Given the description of an element on the screen output the (x, y) to click on. 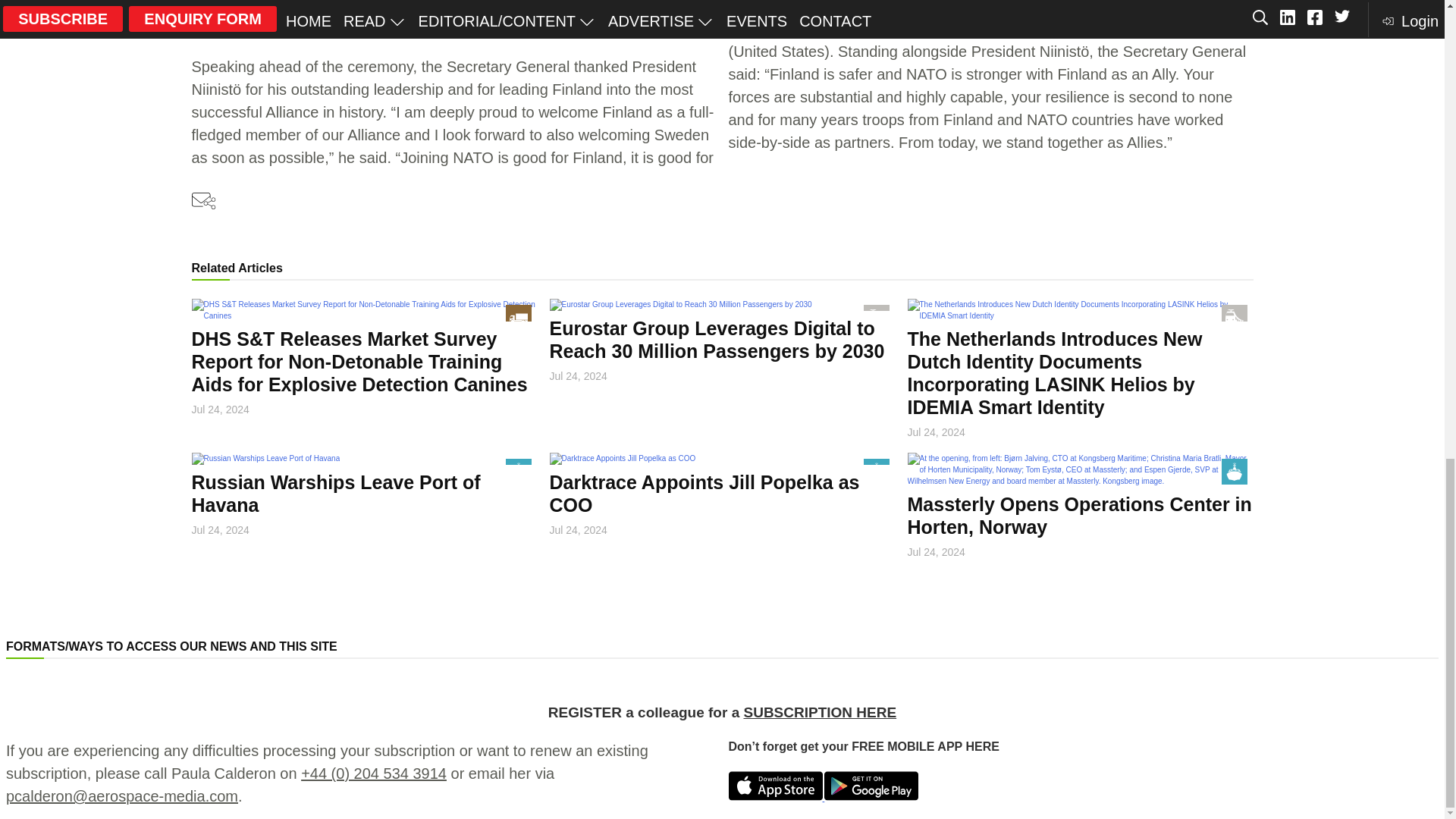
Share by Email (202, 201)
